Given the description of an element on the screen output the (x, y) to click on. 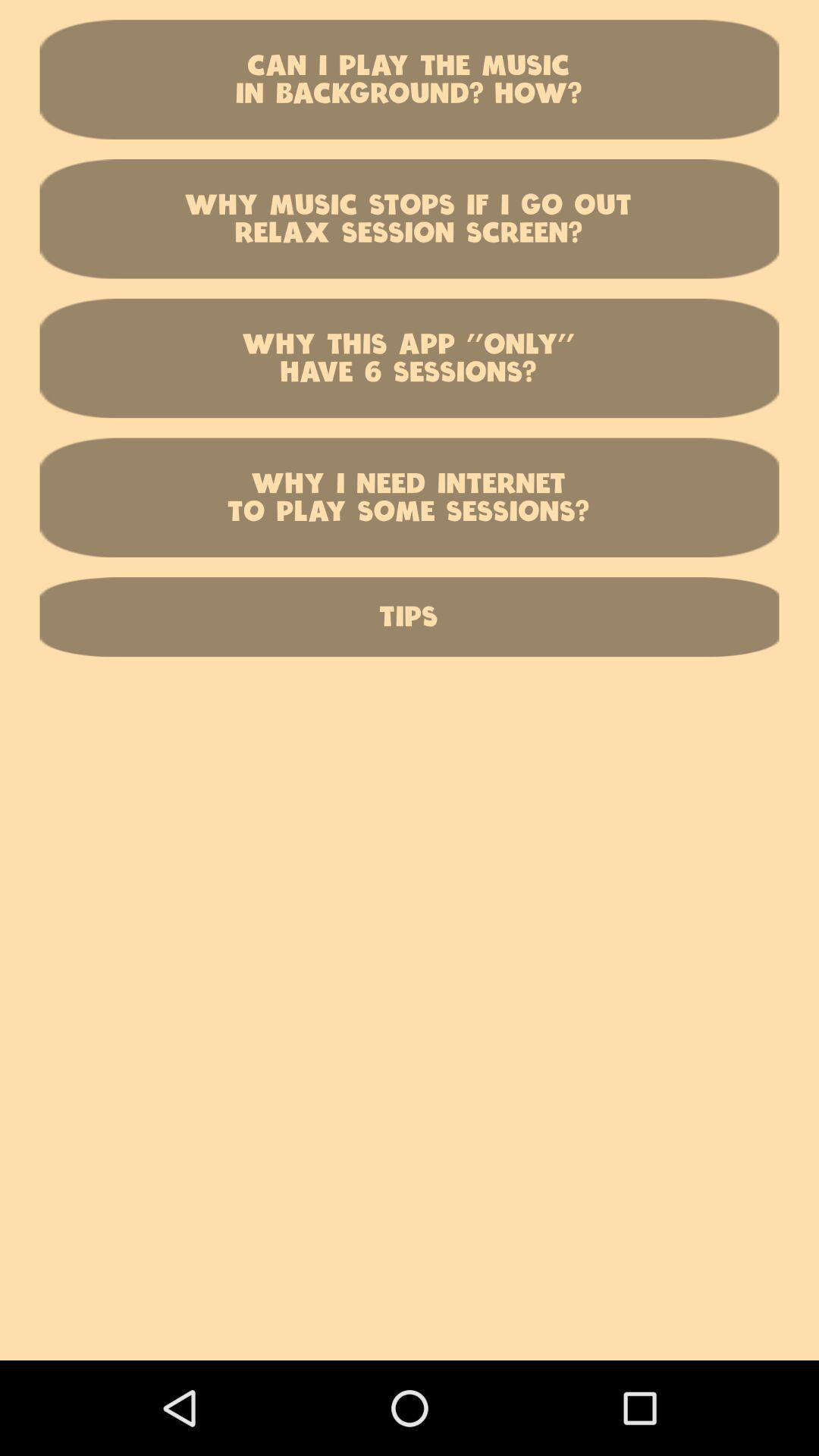
flip until why this app (409, 358)
